Given the description of an element on the screen output the (x, y) to click on. 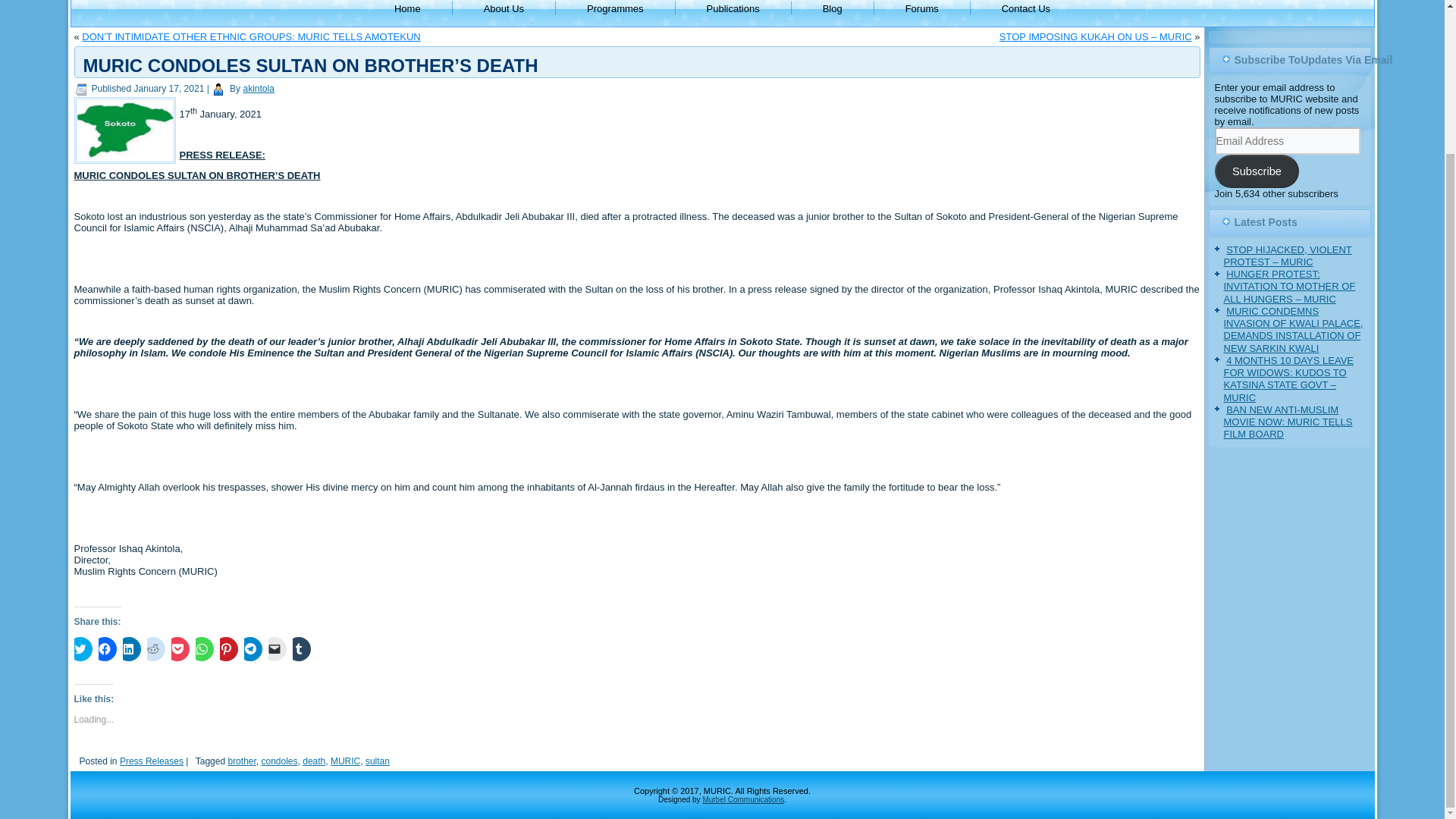
Blog (832, 10)
Publications (732, 10)
Blog (832, 10)
akintola (258, 88)
About Us (503, 10)
Home (406, 10)
Forums (922, 10)
Publications (732, 10)
Contact Us (1026, 10)
Programmes (615, 10)
About Us (503, 10)
Home (406, 10)
Forums (922, 10)
Programmes (615, 10)
